Given the description of an element on the screen output the (x, y) to click on. 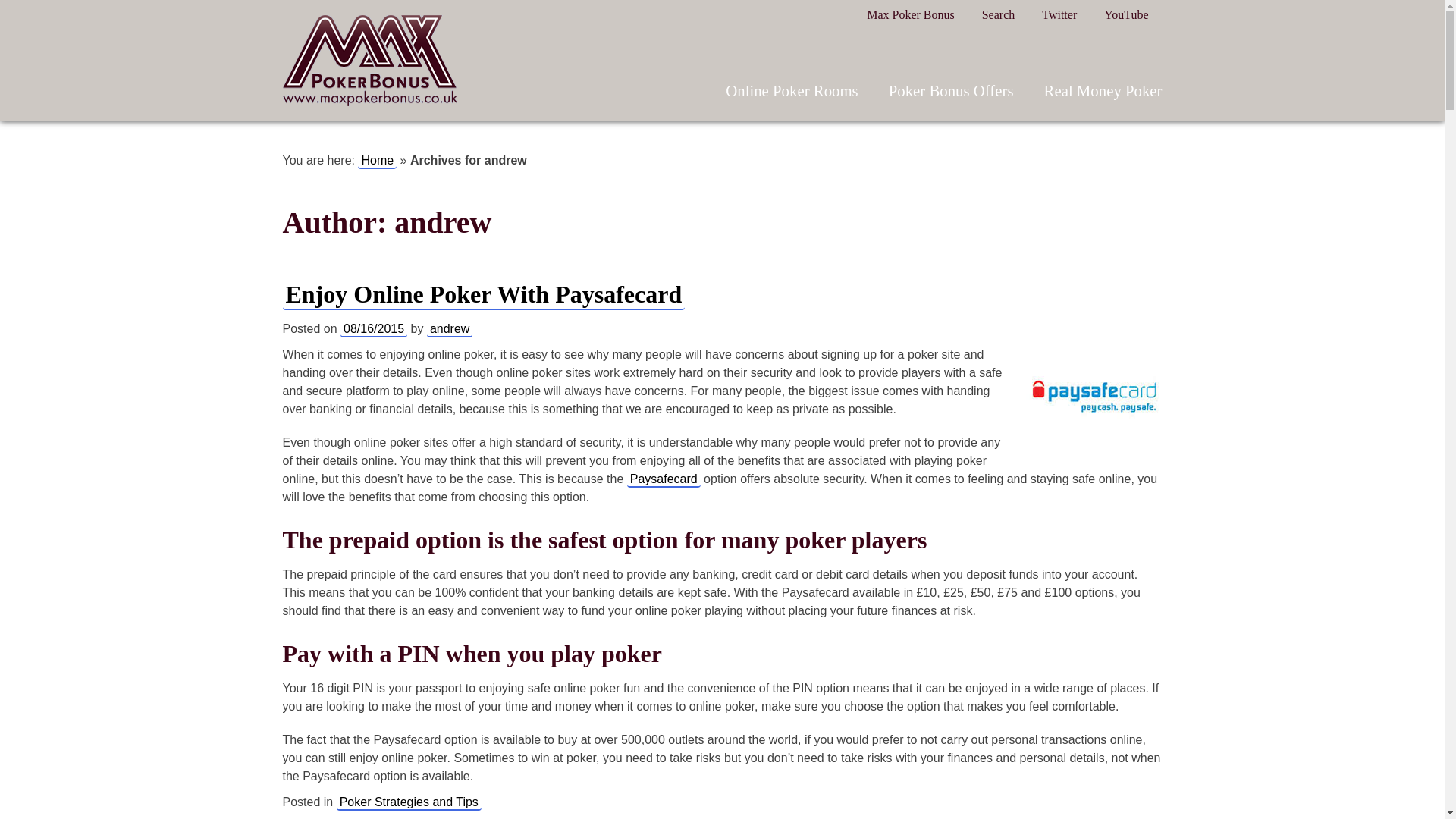
Online Poker Rooms (791, 90)
Max Poker Bonus (369, 60)
Poker Bonus Offers (951, 90)
Enjoy Online Poker With Paysafecard (483, 294)
YouTube (1125, 14)
Paysafecard (663, 478)
Search (998, 14)
Real Money Poker (1103, 90)
Max Poker Bonus (910, 14)
Home (377, 160)
Poker Strategies and Tips (408, 801)
andrew (448, 329)
Twitter (1059, 14)
